Given the description of an element on the screen output the (x, y) to click on. 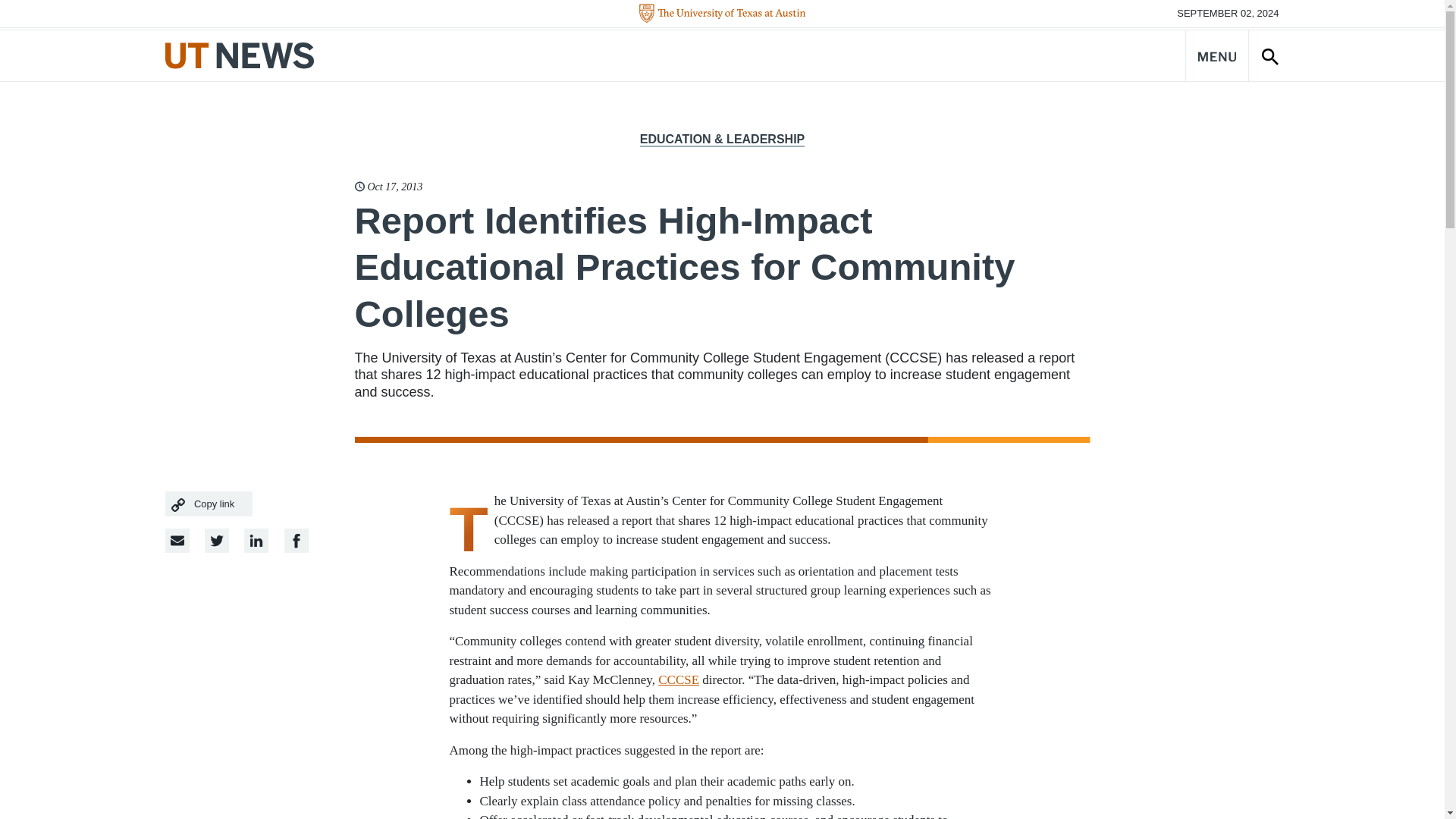
Copy link (209, 503)
Twitter Share Link (216, 540)
The University of Texas at Austin (722, 13)
Navigation (1216, 55)
LinkedIn Share Link (295, 540)
CCCSE (678, 679)
Email Share Link (177, 540)
Facebook Share Link (255, 540)
UT News (239, 55)
